Given the description of an element on the screen output the (x, y) to click on. 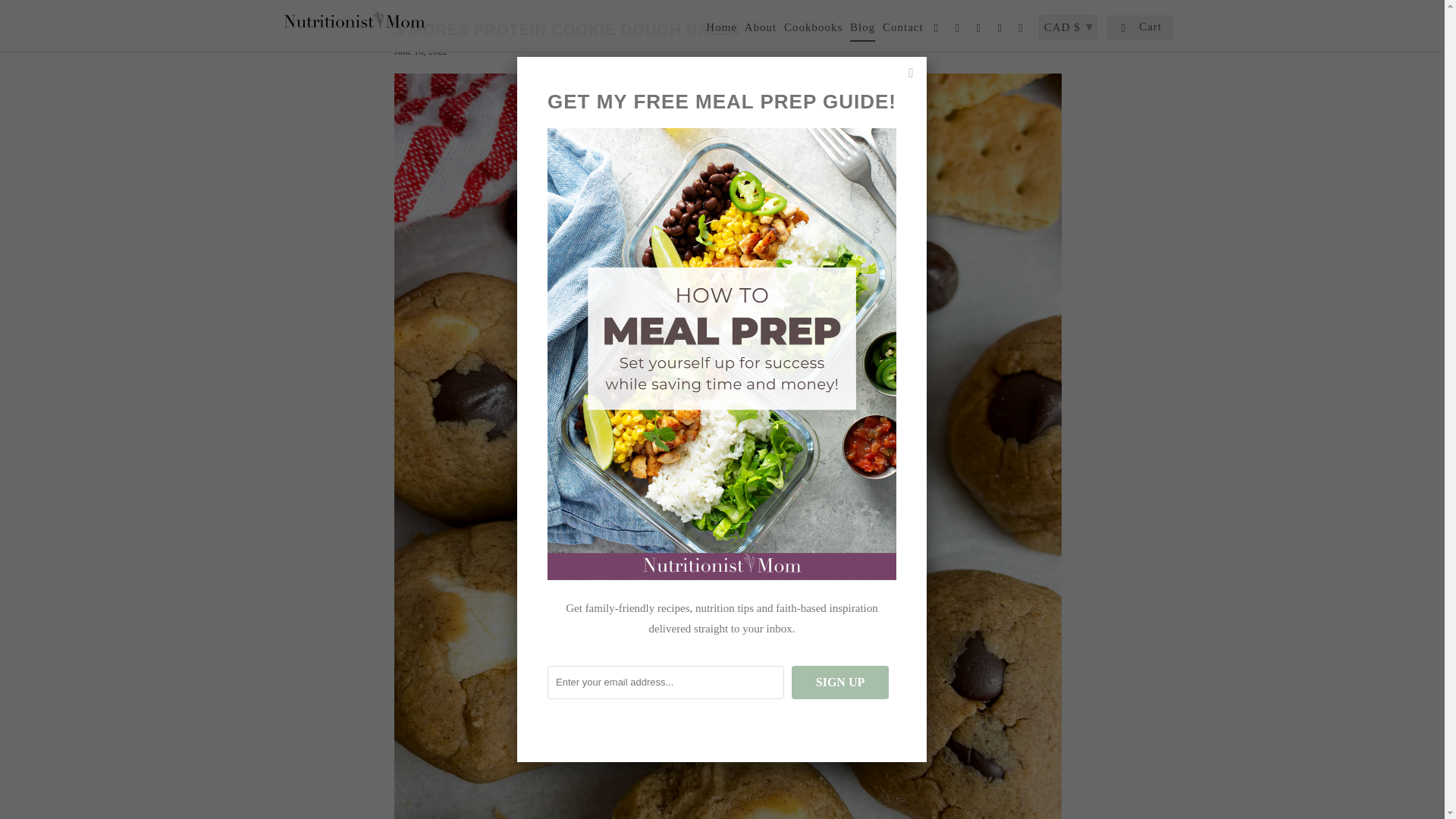
Sign Up (840, 682)
